Given the description of an element on the screen output the (x, y) to click on. 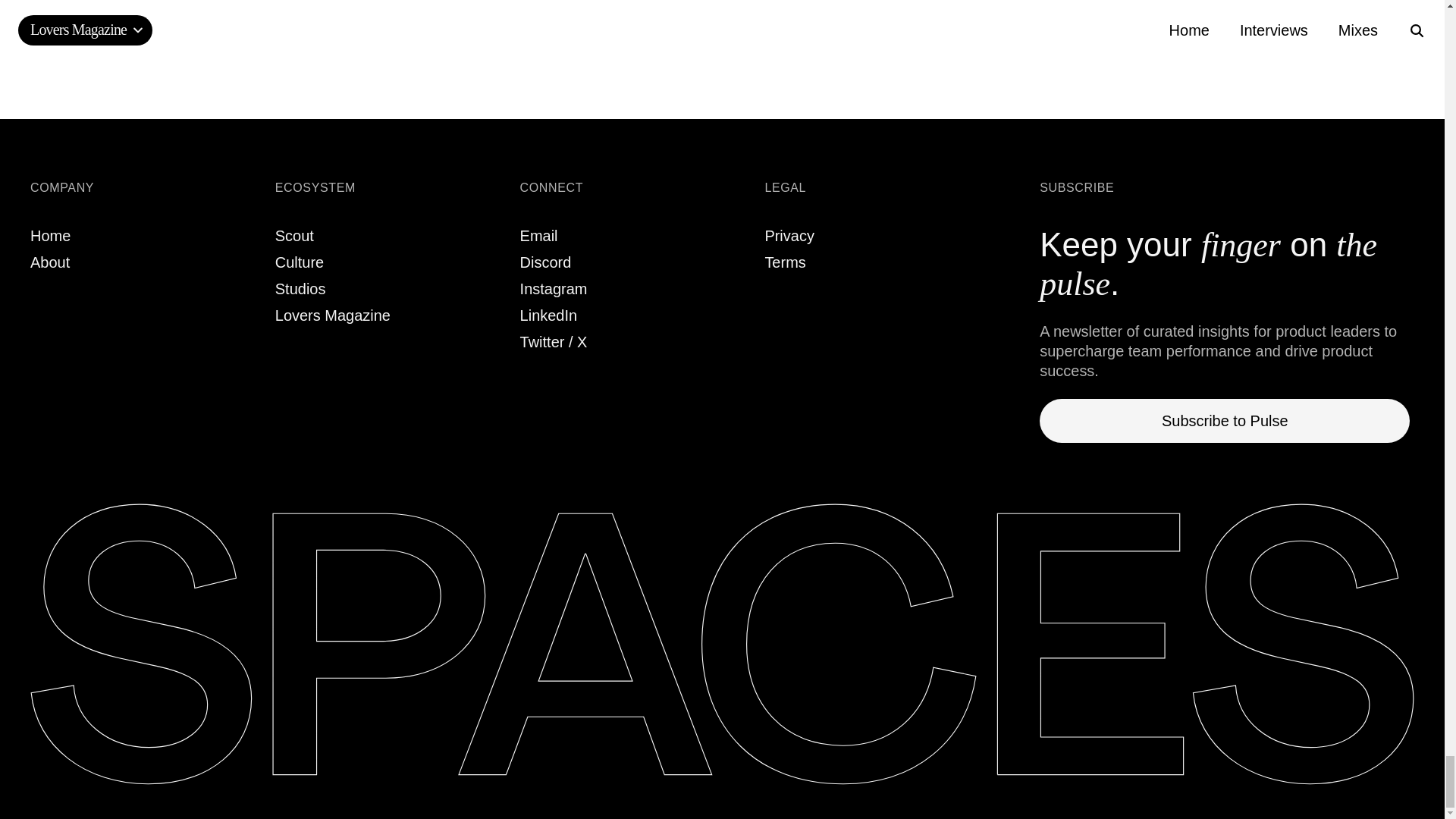
Culture (299, 262)
About (49, 262)
Scout (294, 235)
Home (49, 235)
Home (49, 235)
Recruit Candidates (294, 235)
Boost Brand (299, 262)
Hire Studios (300, 288)
Celebrate Team (332, 315)
About (49, 262)
